Given the description of an element on the screen output the (x, y) to click on. 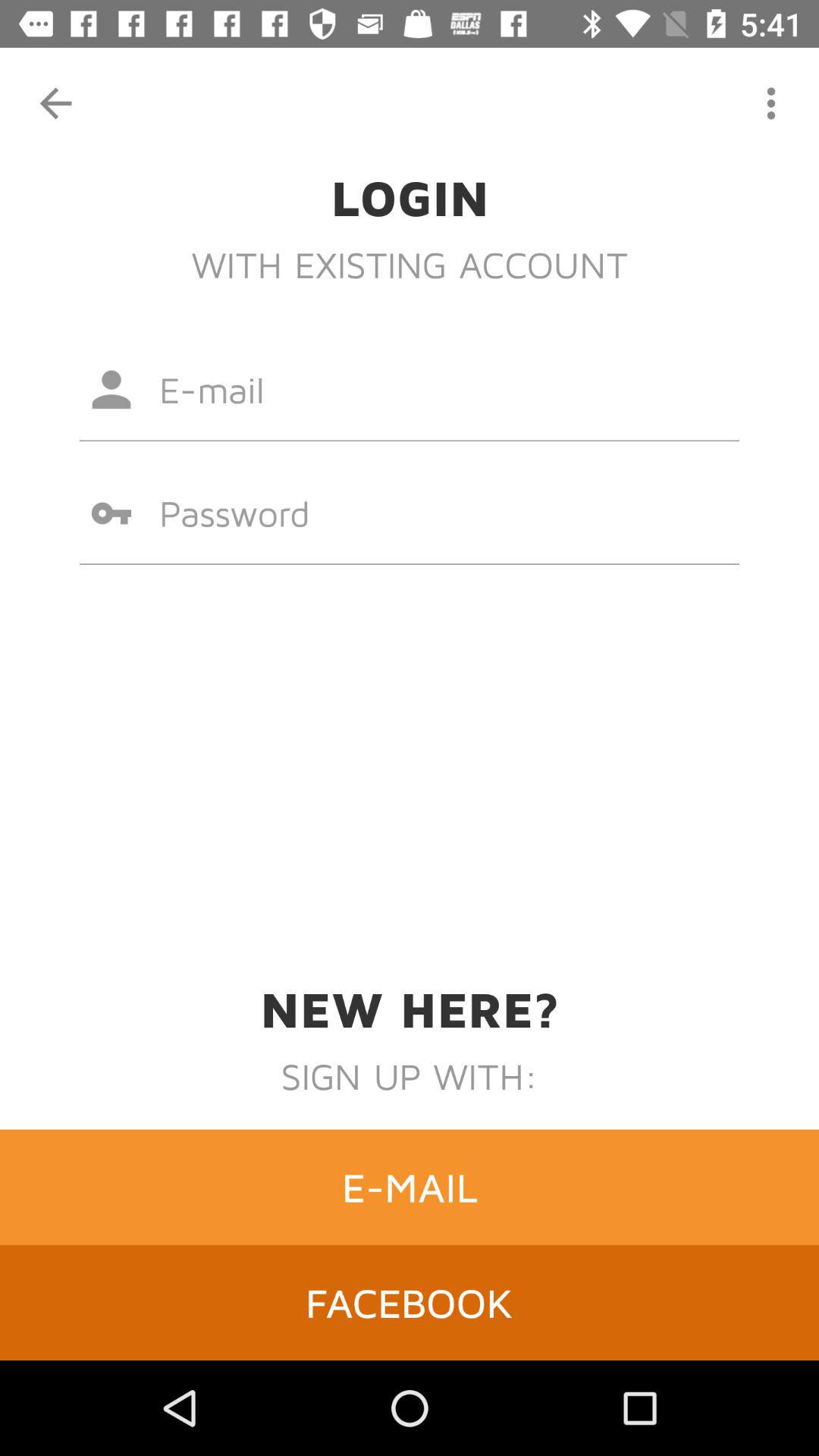
launch item at the top right corner (771, 103)
